Given the description of an element on the screen output the (x, y) to click on. 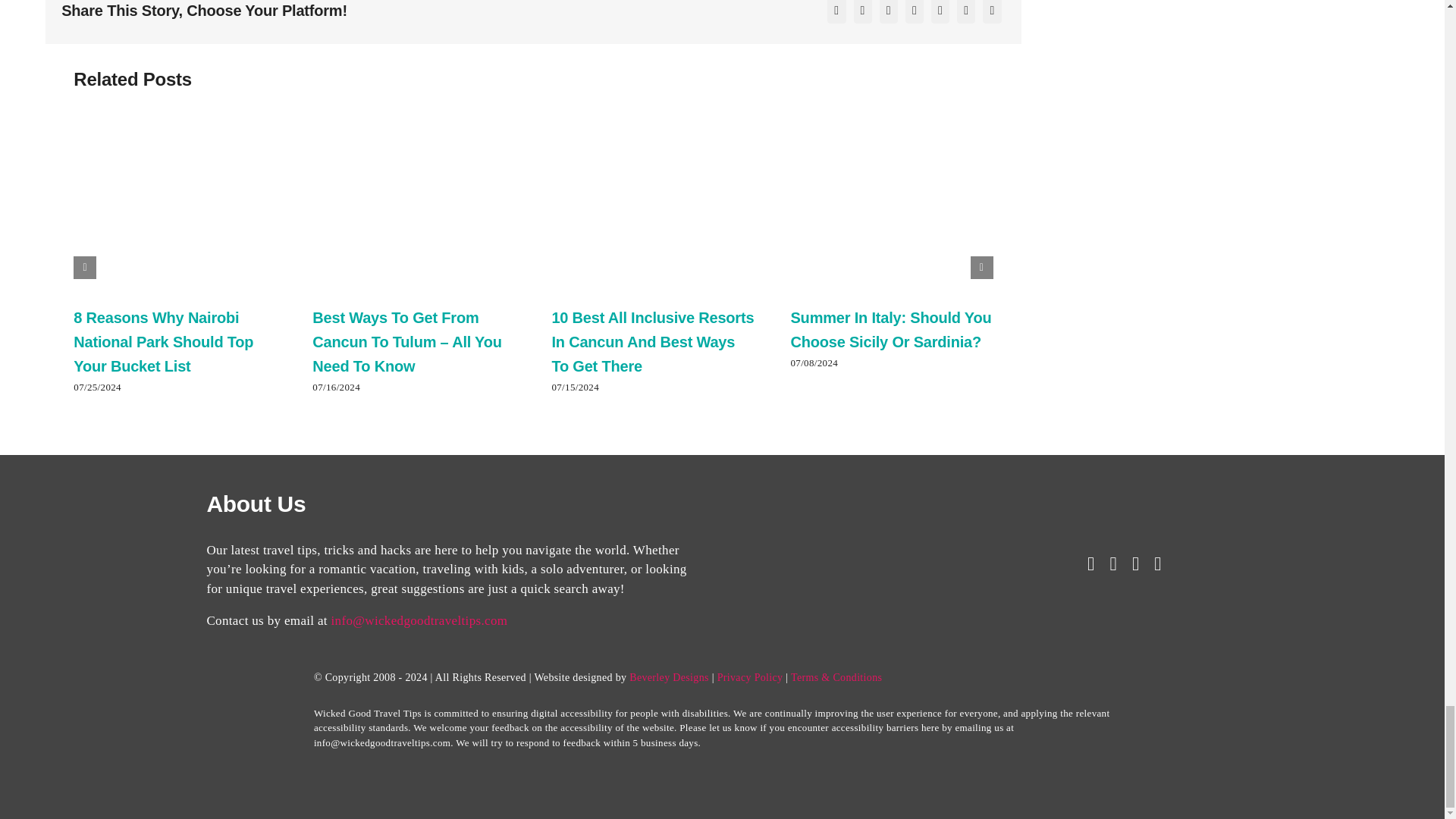
Summer in Italy: Should You Choose Sicily or Sardinia? (890, 328)
X (863, 13)
Telegram (965, 13)
Pinterest (991, 13)
WhatsApp (940, 13)
LinkedIn (914, 13)
Reddit (888, 13)
Facebook (836, 13)
